Given the description of an element on the screen output the (x, y) to click on. 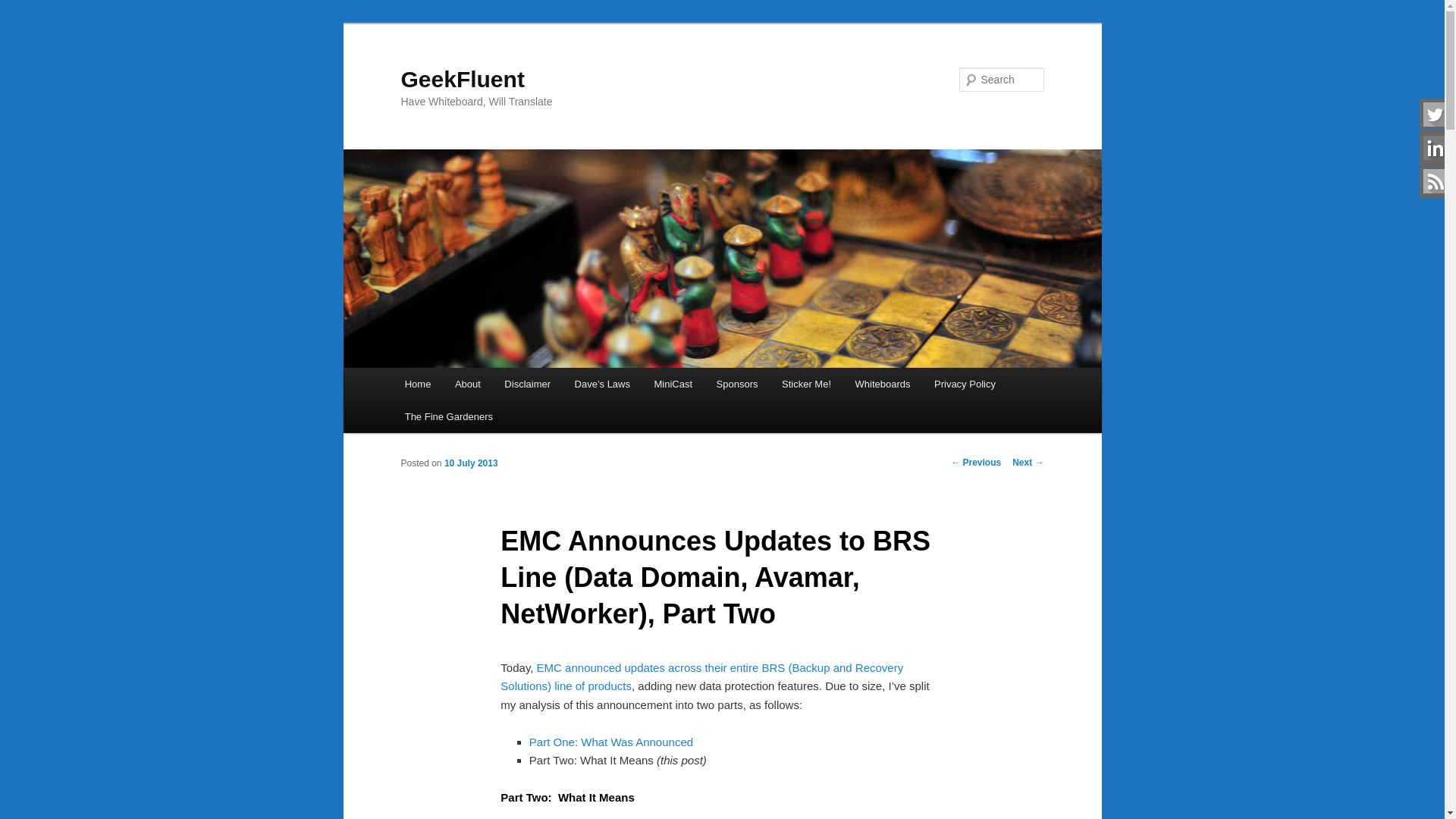
About (467, 383)
10 July 2013 (470, 462)
Sticker Me! (806, 383)
EMC BRS Announcement, Part One (611, 741)
Privacy Policy (964, 383)
Sponsors (737, 383)
Whiteboards (882, 383)
MiniCast (673, 383)
Disclaimer (527, 383)
GeekFluent (462, 78)
